Given the description of an element on the screen output the (x, y) to click on. 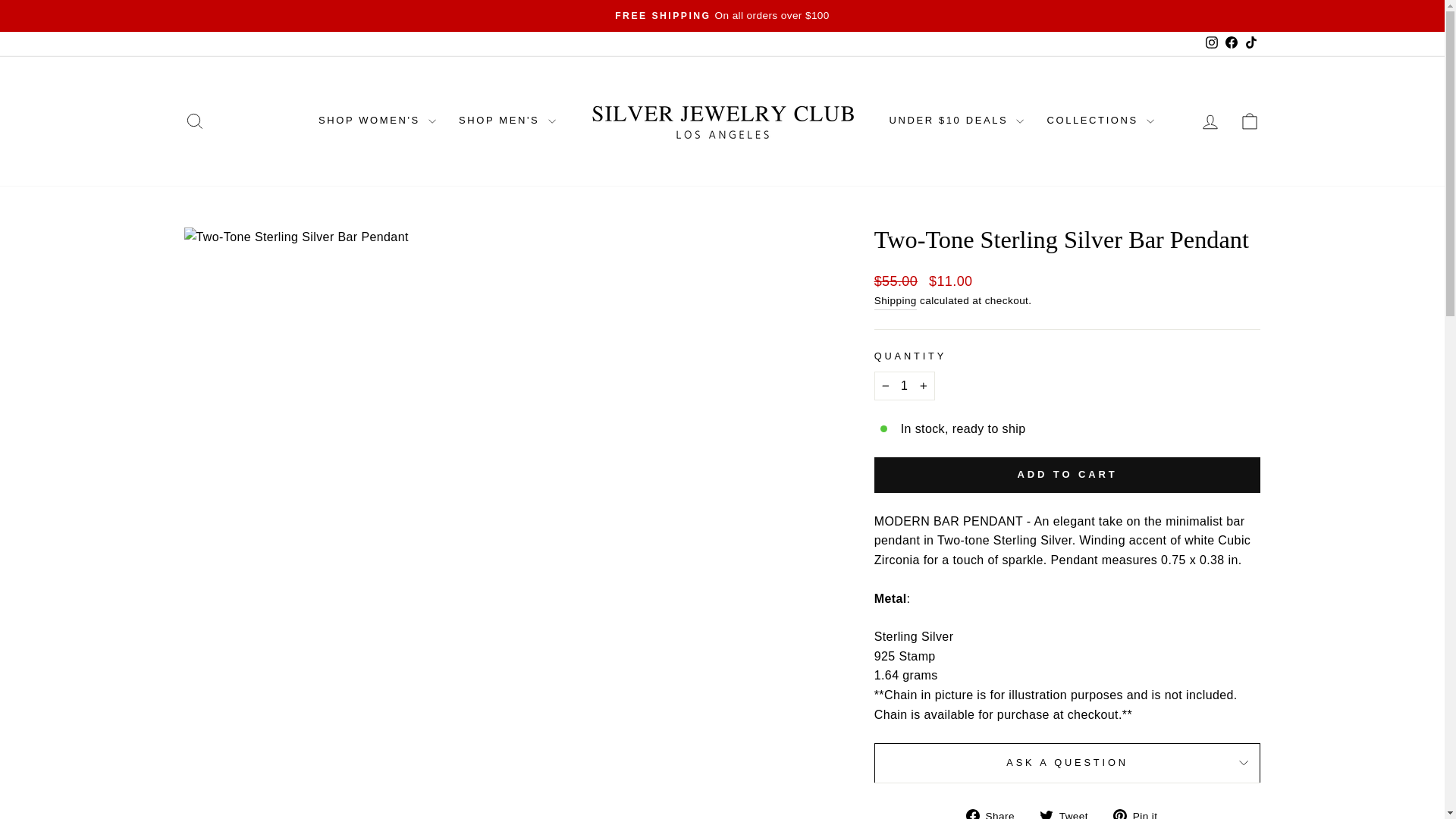
ICON-SEARCH (194, 120)
Tweet on Twitter (1069, 812)
ACCOUNT (1210, 121)
1 (904, 385)
Share on Facebook (996, 812)
Pin on Pinterest (1141, 812)
Silver Jewelry Club on TikTok (1250, 43)
Facebook (1230, 43)
TikTok (1250, 43)
twitter (1045, 814)
Silver Jewelry Club on Facebook (1230, 43)
instagram (194, 120)
Silver Jewelry Club on Instagram (1211, 42)
